Given the description of an element on the screen output the (x, y) to click on. 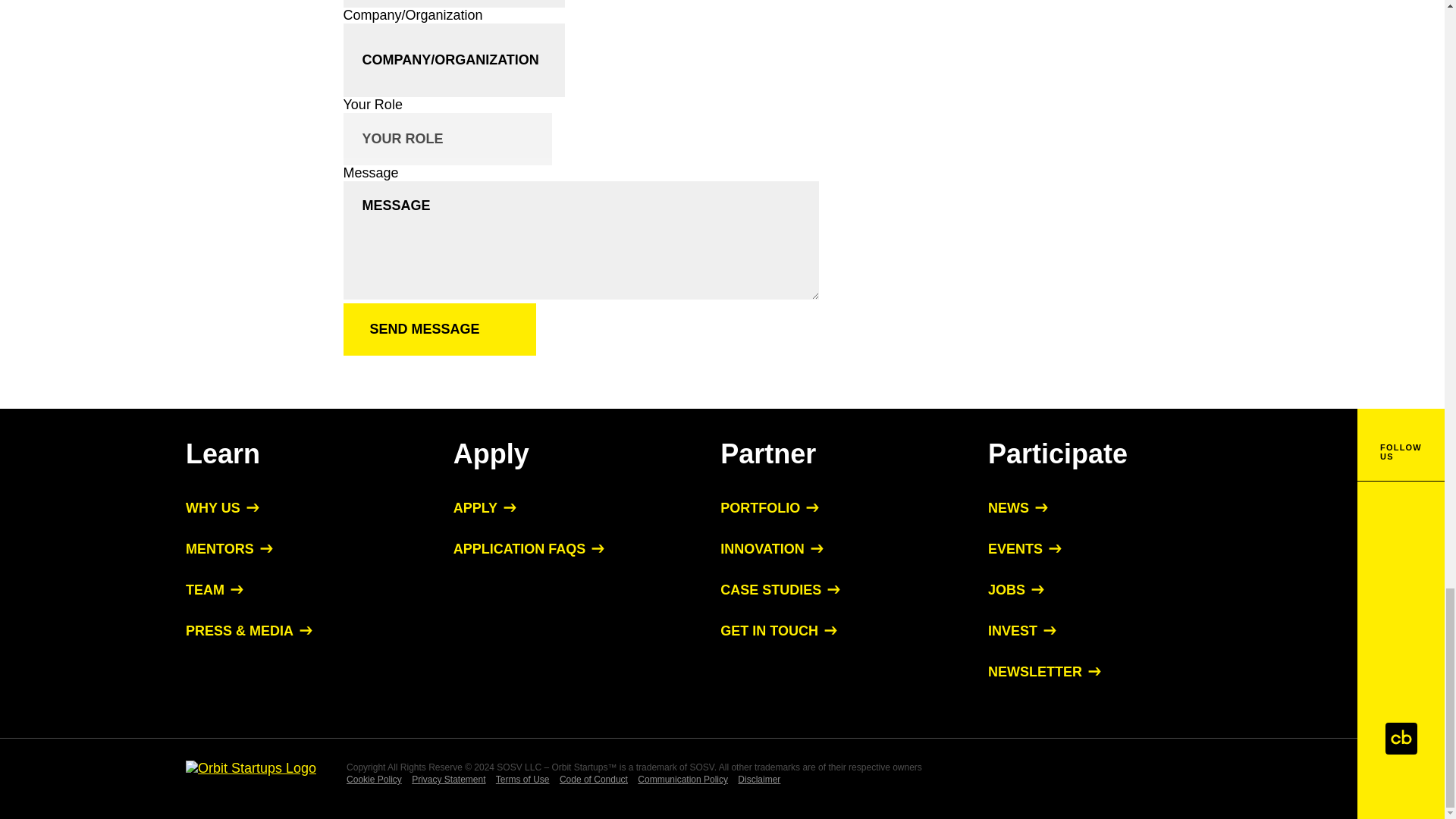
WHY US (222, 507)
SEND MESSAGE (438, 329)
Learn (223, 454)
